Given the description of an element on the screen output the (x, y) to click on. 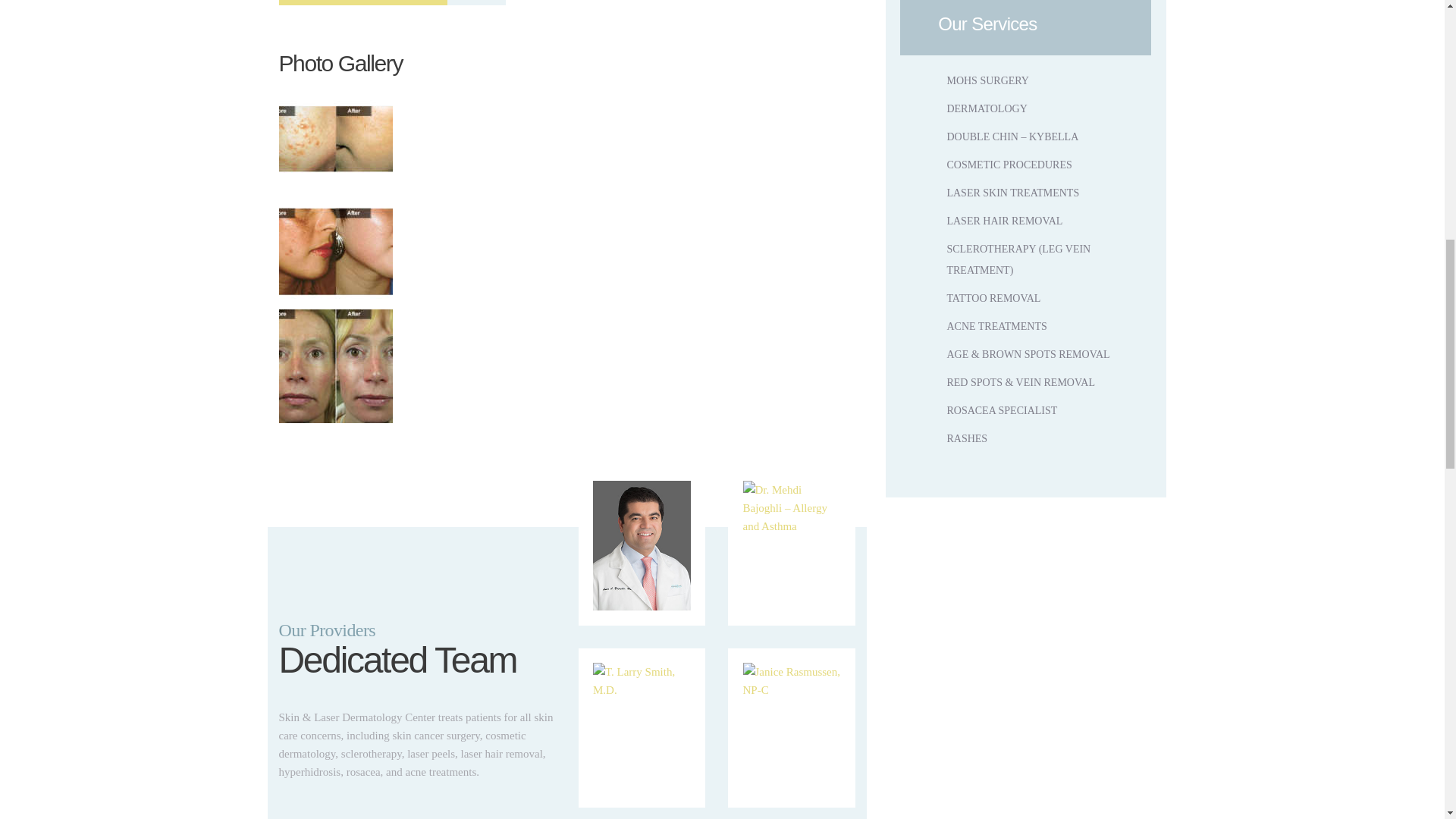
Microdermabrasion-Power-Peels-010 (336, 138)
Microdermabrasion-Power-Peels-030 (336, 366)
Microdermabrasion-Power-Peels-020 (336, 252)
